Given the description of an element on the screen output the (x, y) to click on. 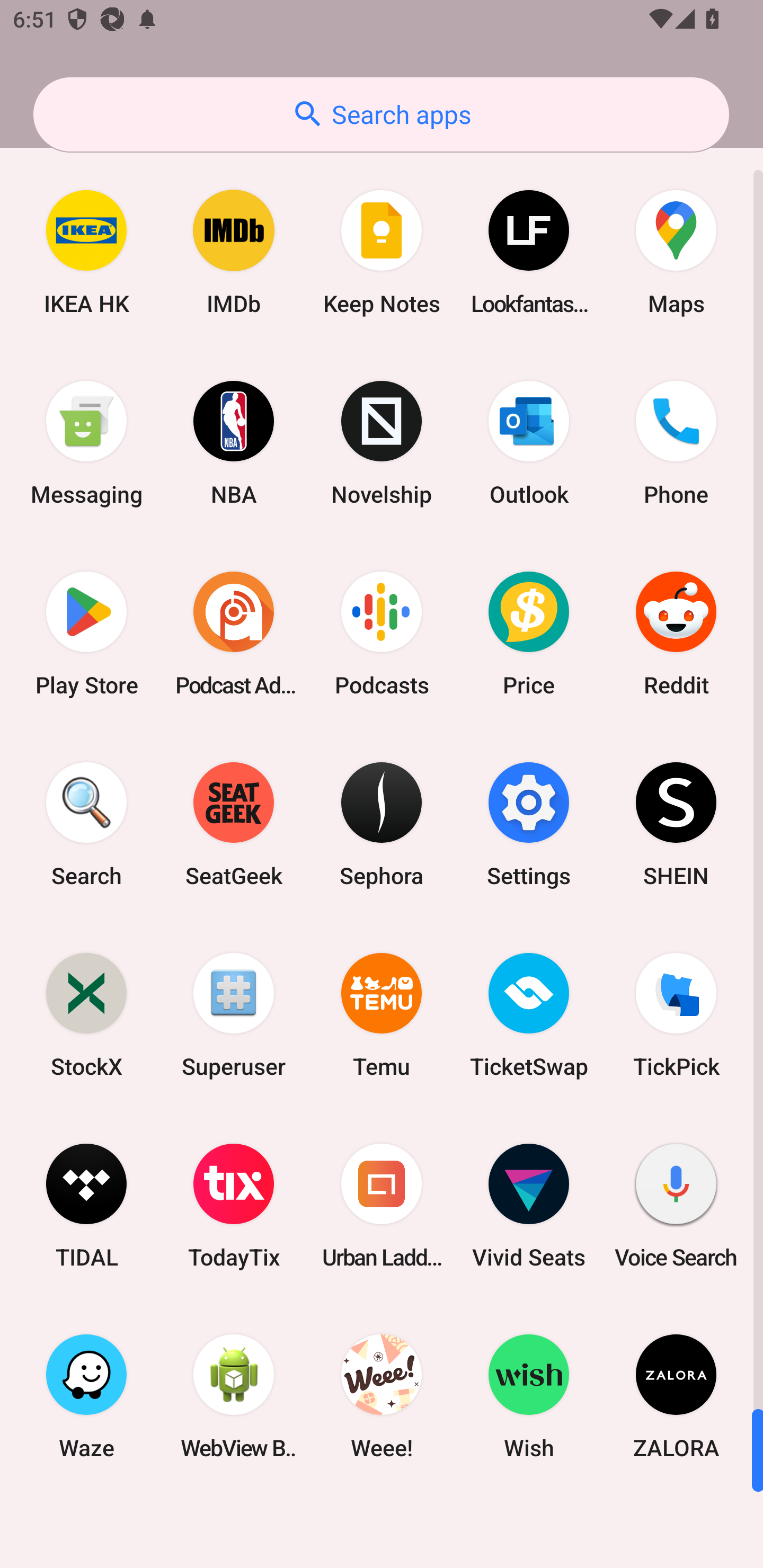
  Search apps (381, 114)
IKEA HK (86, 252)
IMDb (233, 252)
Keep Notes (381, 252)
Lookfantastic (528, 252)
Maps (676, 252)
Messaging (86, 442)
NBA (233, 442)
Novelship (381, 442)
Outlook (528, 442)
Phone (676, 442)
Play Store (86, 633)
Podcast Addict (233, 633)
Podcasts (381, 633)
Price (528, 633)
Reddit (676, 633)
Search (86, 823)
SeatGeek (233, 823)
Sephora (381, 823)
Settings (528, 823)
SHEIN (676, 823)
StockX (86, 1014)
Superuser (233, 1014)
Temu (381, 1014)
TicketSwap (528, 1014)
TickPick (676, 1014)
TIDAL (86, 1205)
TodayTix (233, 1205)
Urban Ladder (381, 1205)
Vivid Seats (528, 1205)
Voice Search (676, 1205)
Waze (86, 1396)
WebView Browser Tester (233, 1396)
Weee! (381, 1396)
Wish (528, 1396)
ZALORA (676, 1396)
